Given the description of an element on the screen output the (x, y) to click on. 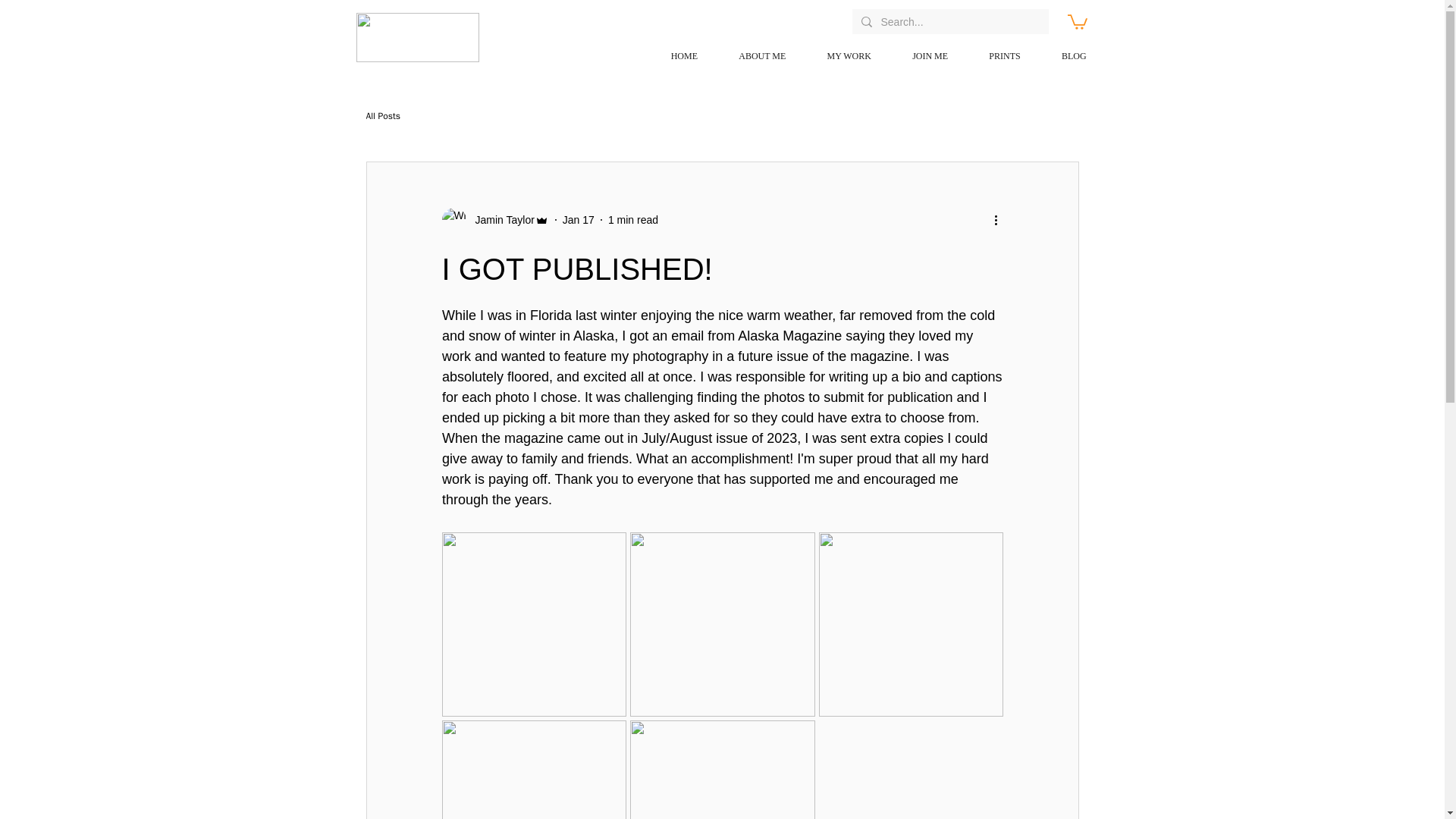
Jan 17 (578, 219)
Jamin Taylor (499, 220)
MY WORK (839, 55)
HOME (673, 55)
New Logo.jpg (417, 37)
JOIN ME (920, 55)
ABOUT ME (752, 55)
Jamin Taylor (494, 219)
1 min read (633, 219)
PRINTS (993, 55)
All Posts (382, 115)
BLOG (1063, 55)
